Given the description of an element on the screen output the (x, y) to click on. 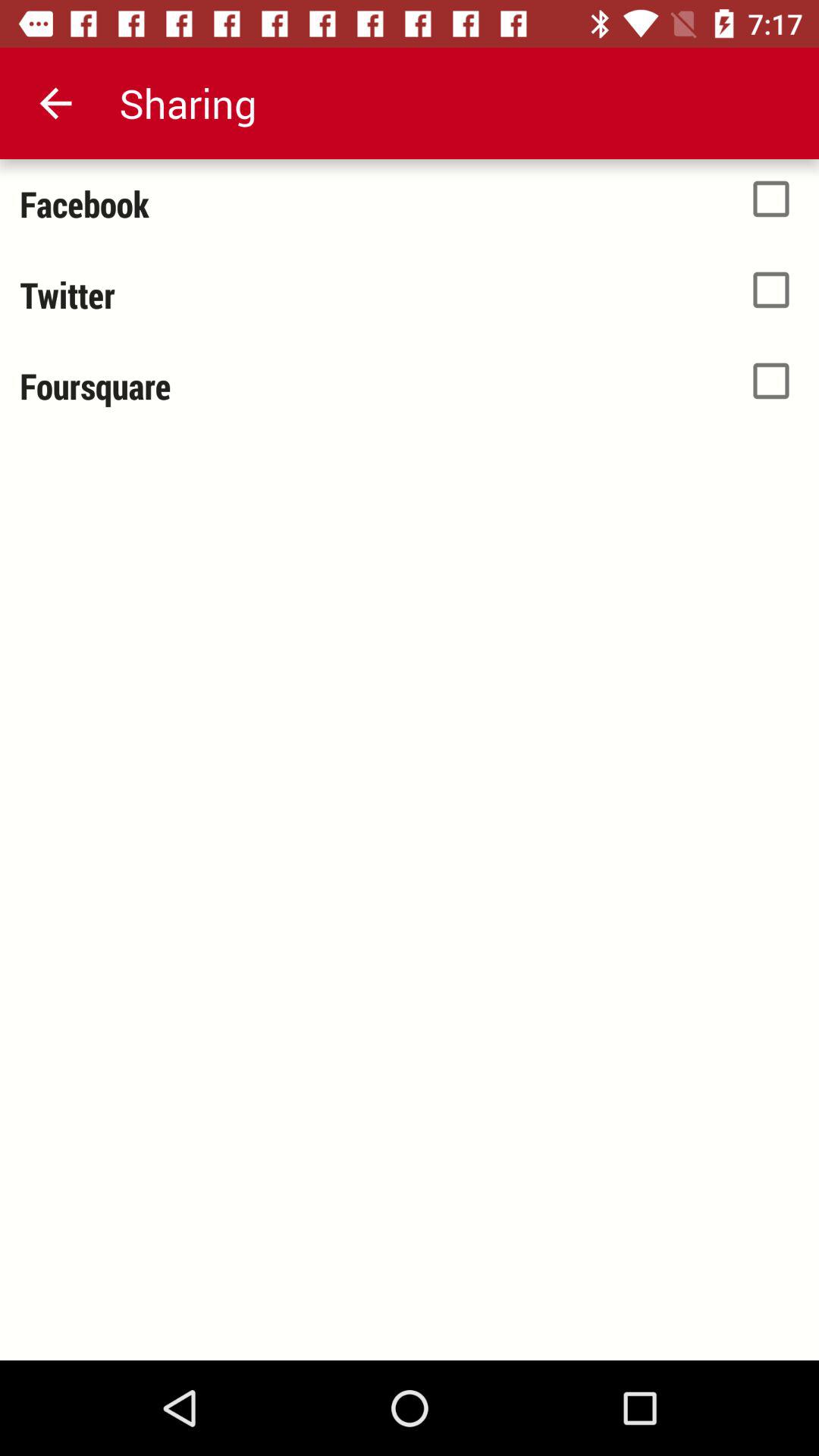
open app next to the sharing icon (55, 103)
